Given the description of an element on the screen output the (x, y) to click on. 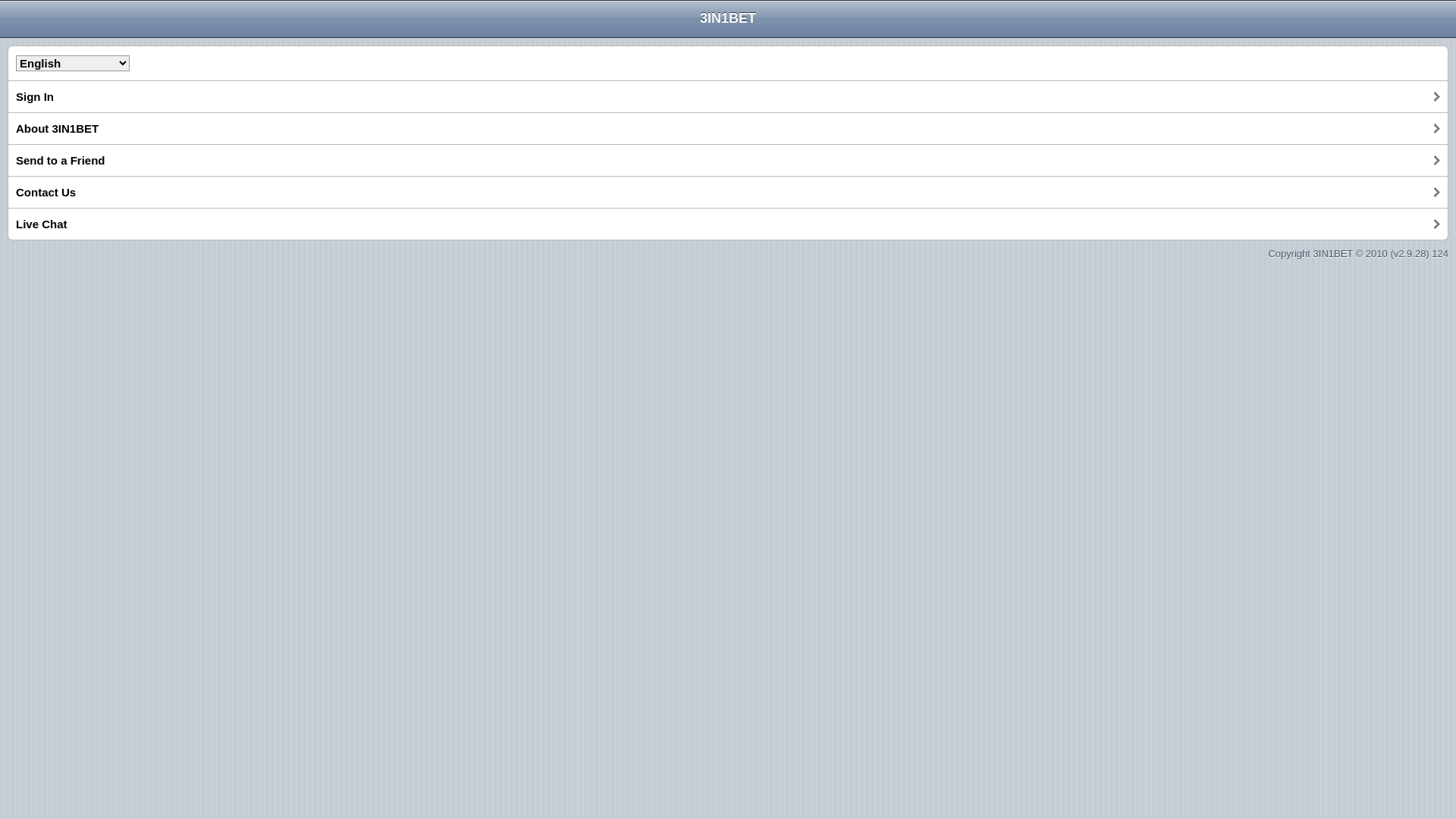
About 3IN1BET Element type: text (727, 128)
Send to a Friend Element type: text (727, 159)
Sign In Element type: text (727, 96)
Contact Us Element type: text (727, 191)
Live Chat Element type: text (727, 223)
